Given the description of an element on the screen output the (x, y) to click on. 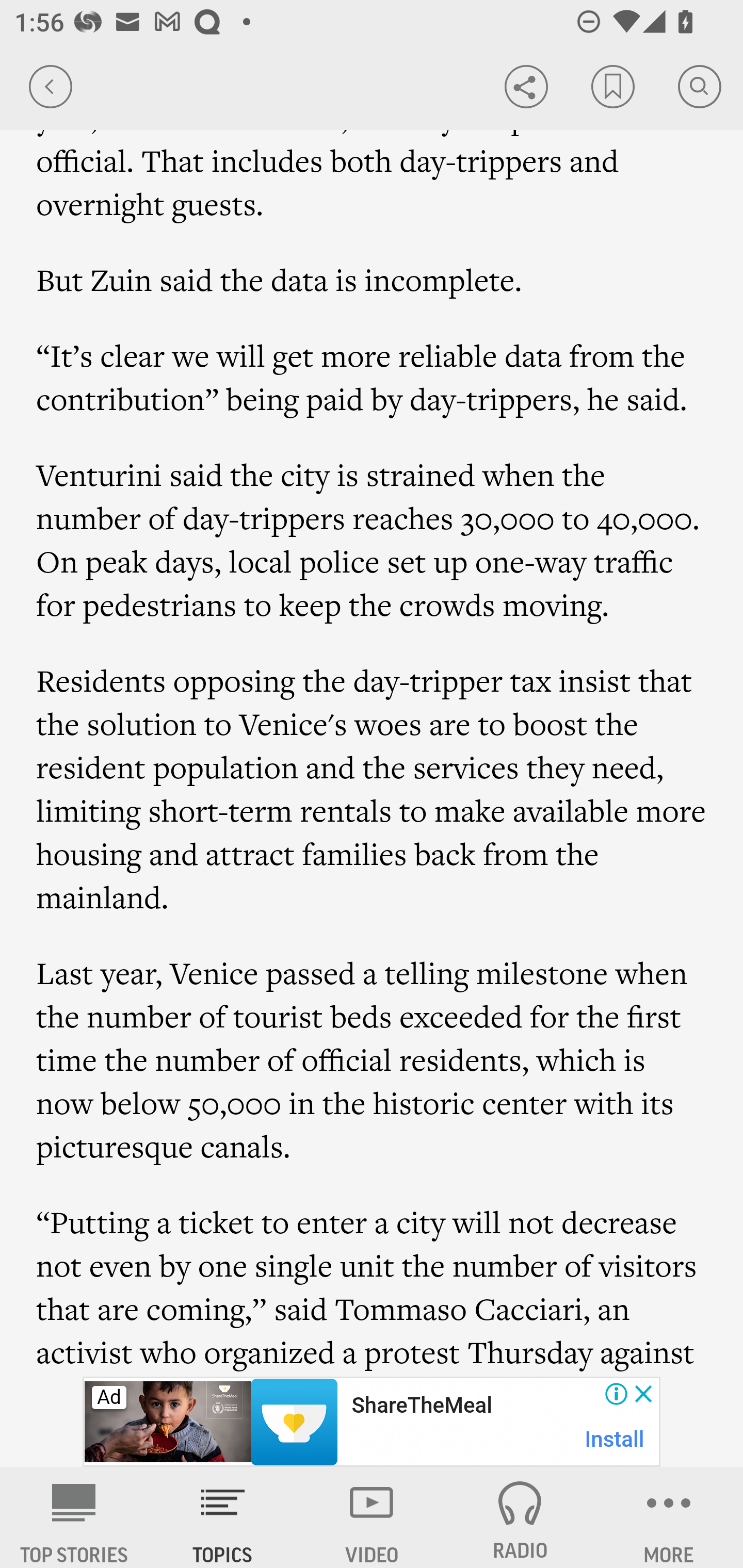
ShareTheMeal (420, 1405)
Install (614, 1438)
AP News TOP STORIES (74, 1517)
TOPICS (222, 1517)
VIDEO (371, 1517)
RADIO (519, 1517)
MORE (668, 1517)
